Given the description of an element on the screen output the (x, y) to click on. 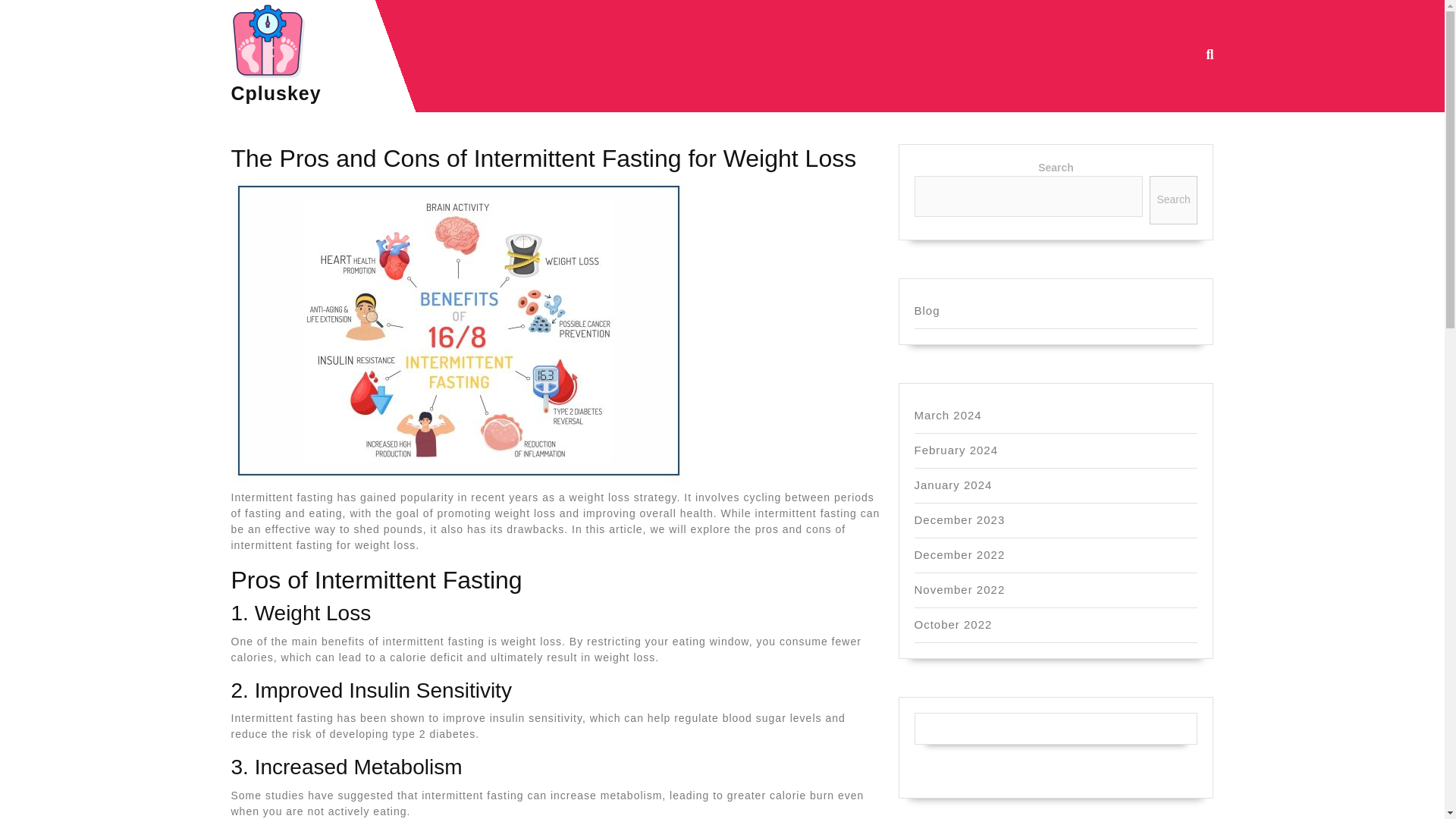
Search (1174, 200)
February 2024 (956, 449)
December 2022 (960, 554)
Blog (927, 309)
December 2023 (960, 519)
November 2022 (960, 589)
Cpluskey (275, 93)
January 2024 (953, 484)
October 2022 (953, 624)
March 2024 (947, 414)
